Given the description of an element on the screen output the (x, y) to click on. 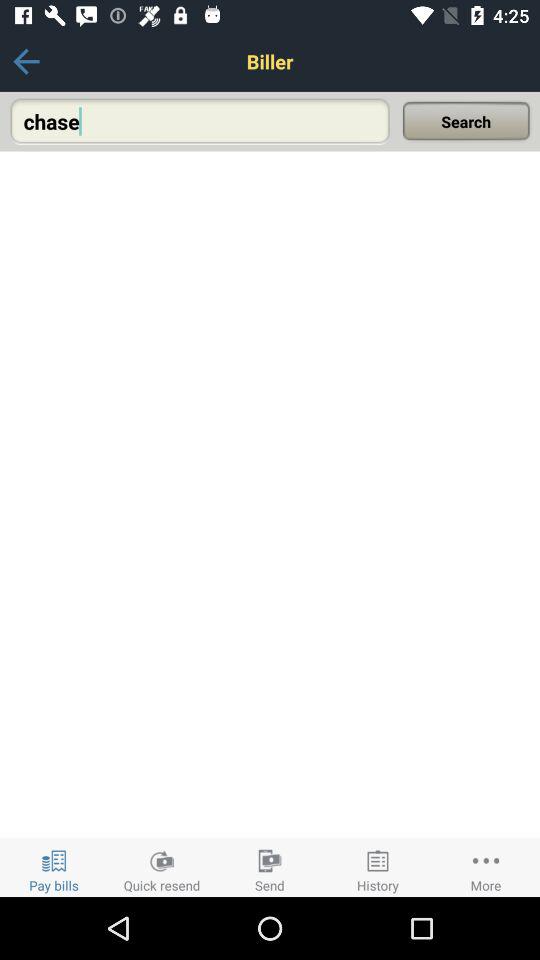
go to next (26, 61)
